Given the description of an element on the screen output the (x, y) to click on. 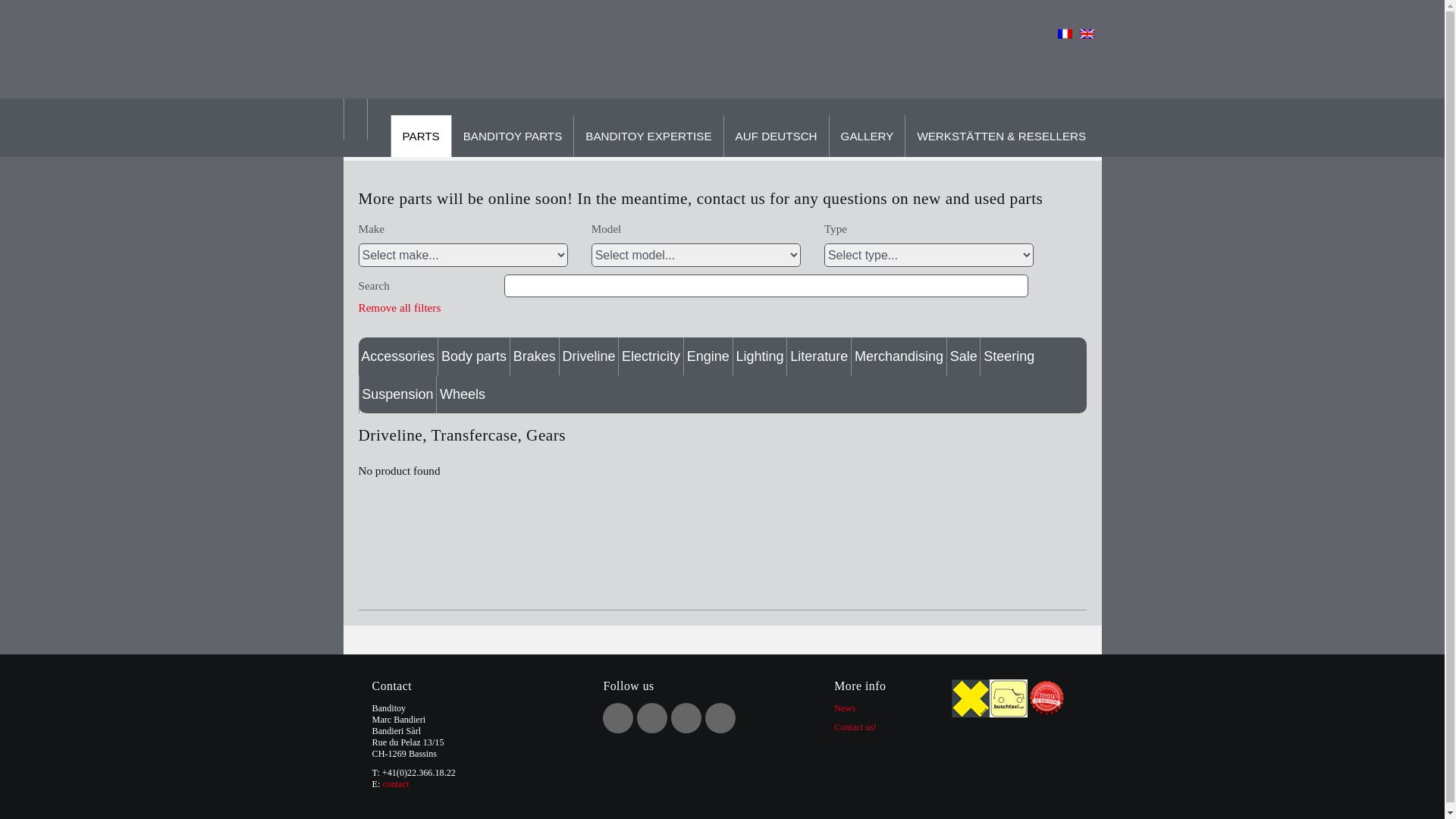
BANDITOY EXPERTISE Element type: text (647, 135)
Toyota Off road Festival Poland Element type: hover (1046, 698)
AUF DEUTSCH Element type: text (775, 135)
Remove all filters Element type: text (398, 307)
  Element type: text (373, 802)
PARTS Element type: text (419, 135)
News Element type: text (844, 707)
Bushtaxi Treffen Deutschland Element type: hover (1008, 698)
Follow us Linkedin Element type: hover (652, 717)
  Element type: text (835, 745)
Follow us Instagram Element type: hover (720, 717)
contact Element type: text (395, 783)
BANDITOY PARTS Element type: text (512, 135)
Contact us! Element type: text (855, 726)
English Element type: hover (1086, 33)
Follow us Facebook Element type: hover (617, 717)
Follow us YoutTube Element type: hover (686, 717)
GALLERY Element type: text (866, 135)
